Given the description of an element on the screen output the (x, y) to click on. 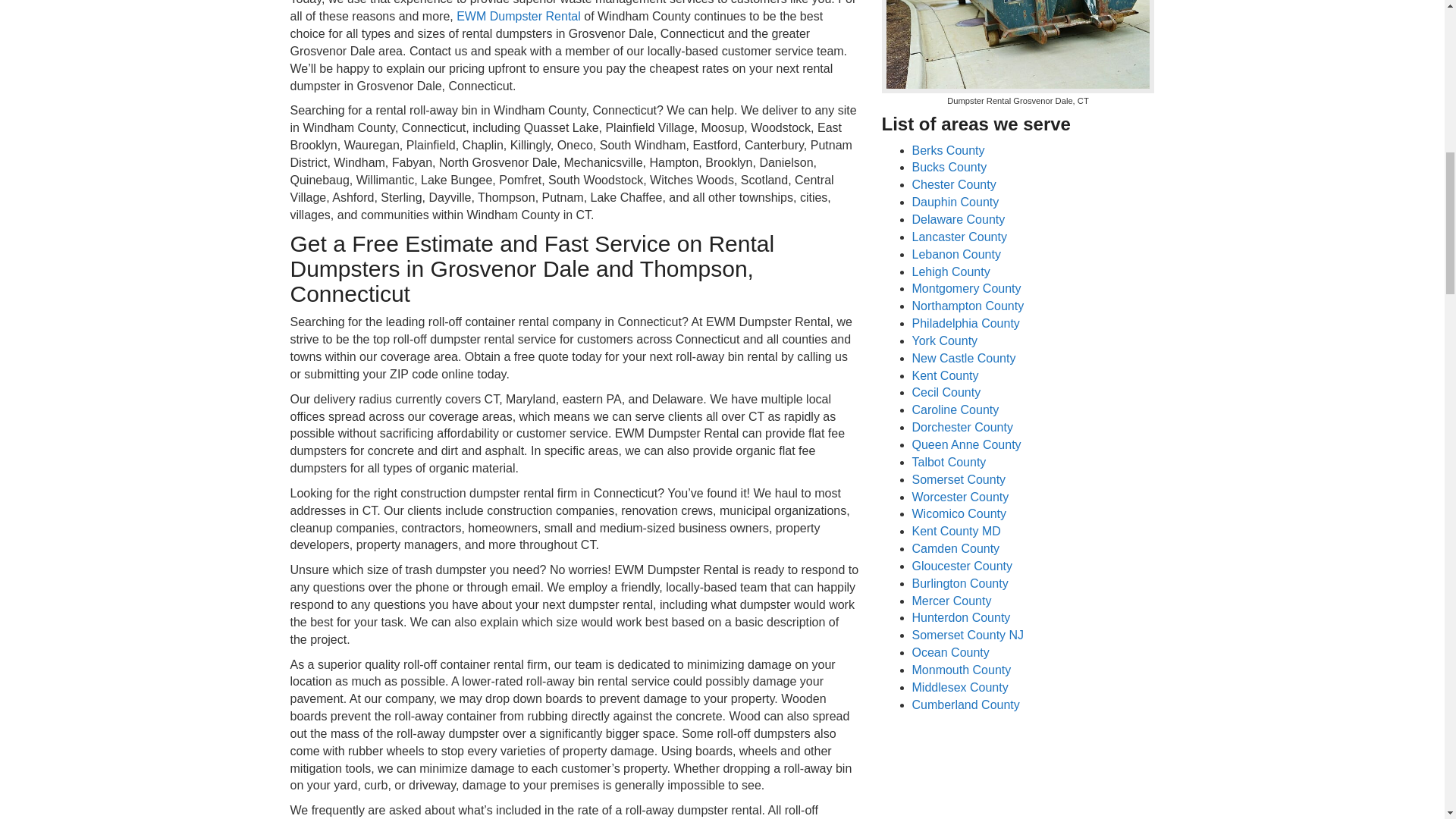
Caroline County (954, 409)
Dauphin County (954, 201)
Lancaster County (958, 236)
Lehigh County (950, 271)
York County (943, 340)
Bucks County (949, 166)
Kent County (944, 375)
Queen Anne County (965, 444)
EWM Dumpster Rental (518, 15)
Berks County (947, 150)
New Castle County (962, 358)
Lebanon County (955, 254)
Philadelphia County (965, 323)
Northampton County (967, 305)
Chester County (953, 184)
